Given the description of an element on the screen output the (x, y) to click on. 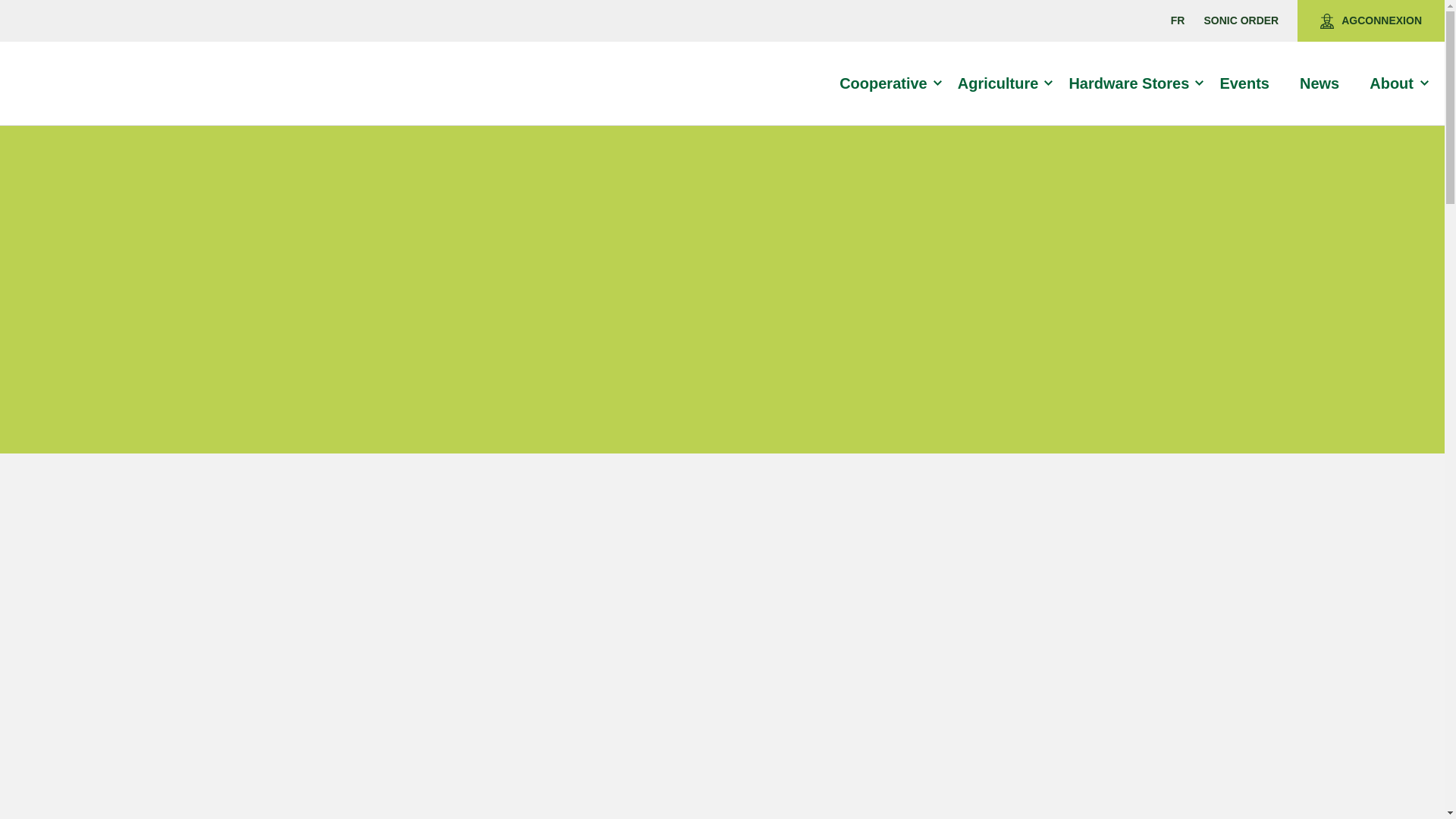
FR (1177, 20)
Cooperative (890, 83)
Hardware Stores (1135, 83)
News (1326, 83)
Fr (1177, 20)
About (1398, 83)
SONIC ORDER (1241, 20)
Events (1251, 83)
Agriculture (1004, 83)
